Given the description of an element on the screen output the (x, y) to click on. 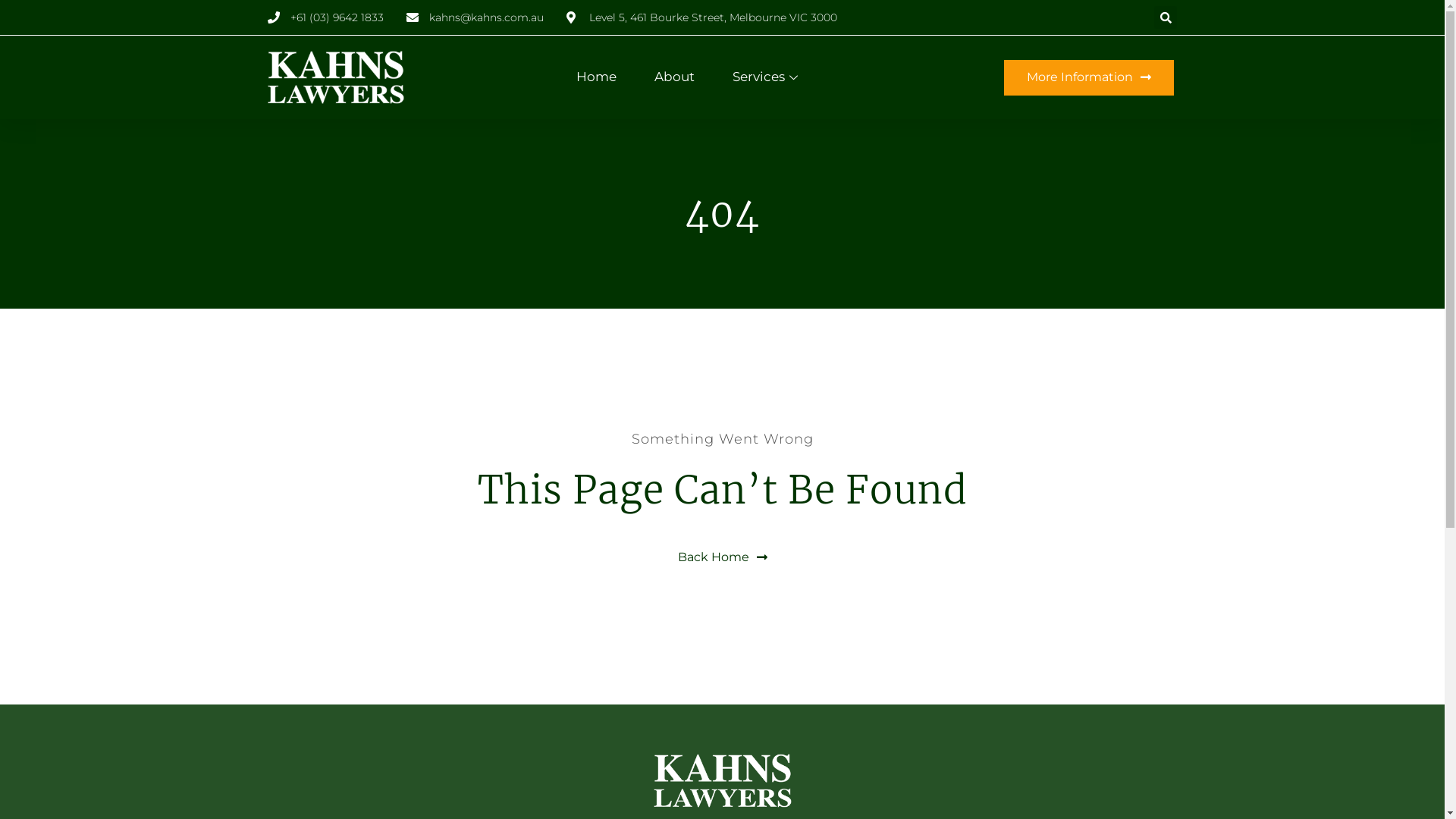
Back Home Element type: text (722, 557)
Services Element type: text (766, 77)
More Information Element type: text (1088, 76)
About Element type: text (674, 77)
Home Element type: text (596, 77)
